Given the description of an element on the screen output the (x, y) to click on. 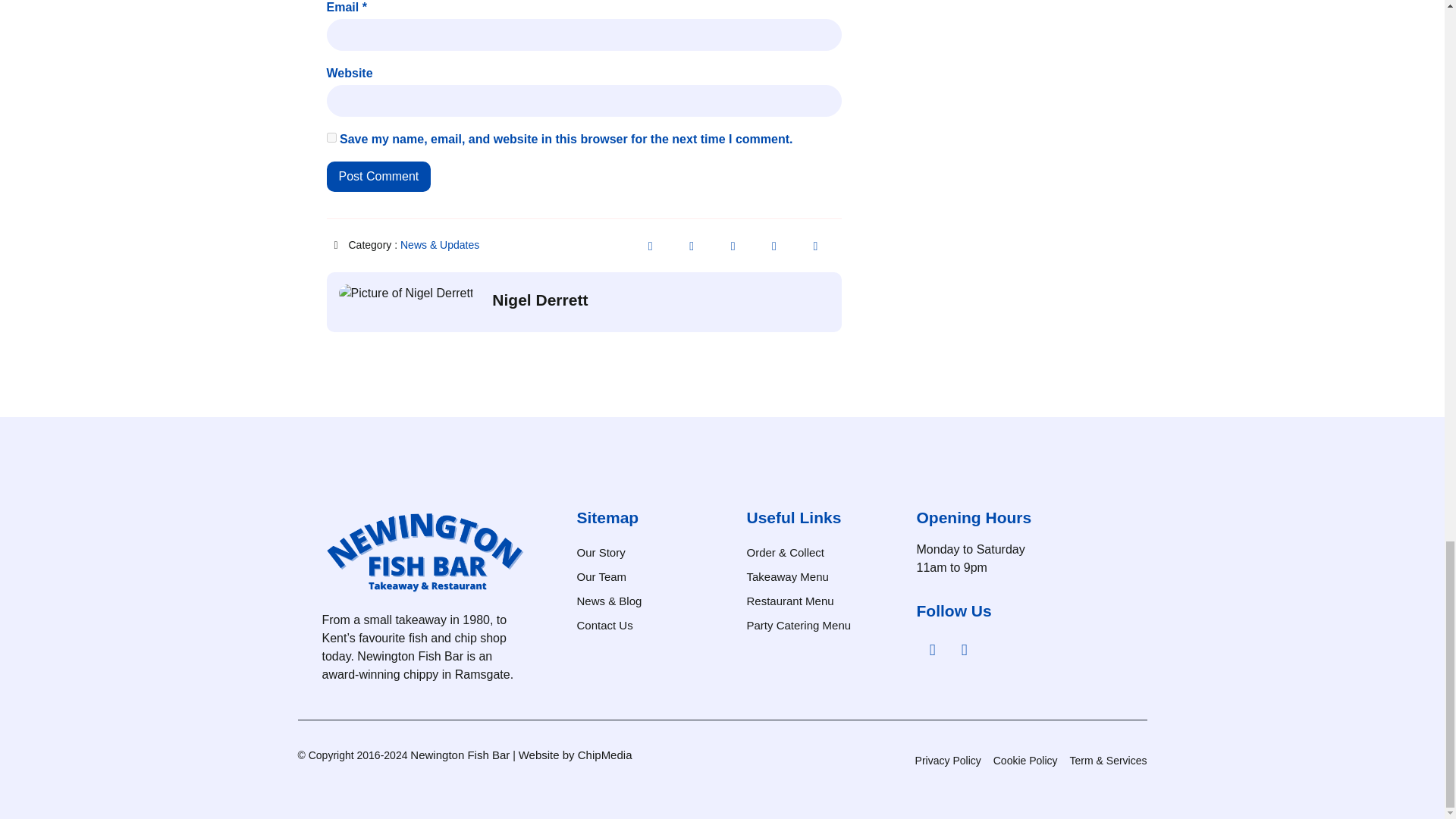
yes (331, 137)
Post Comment (378, 176)
